Given the description of an element on the screen output the (x, y) to click on. 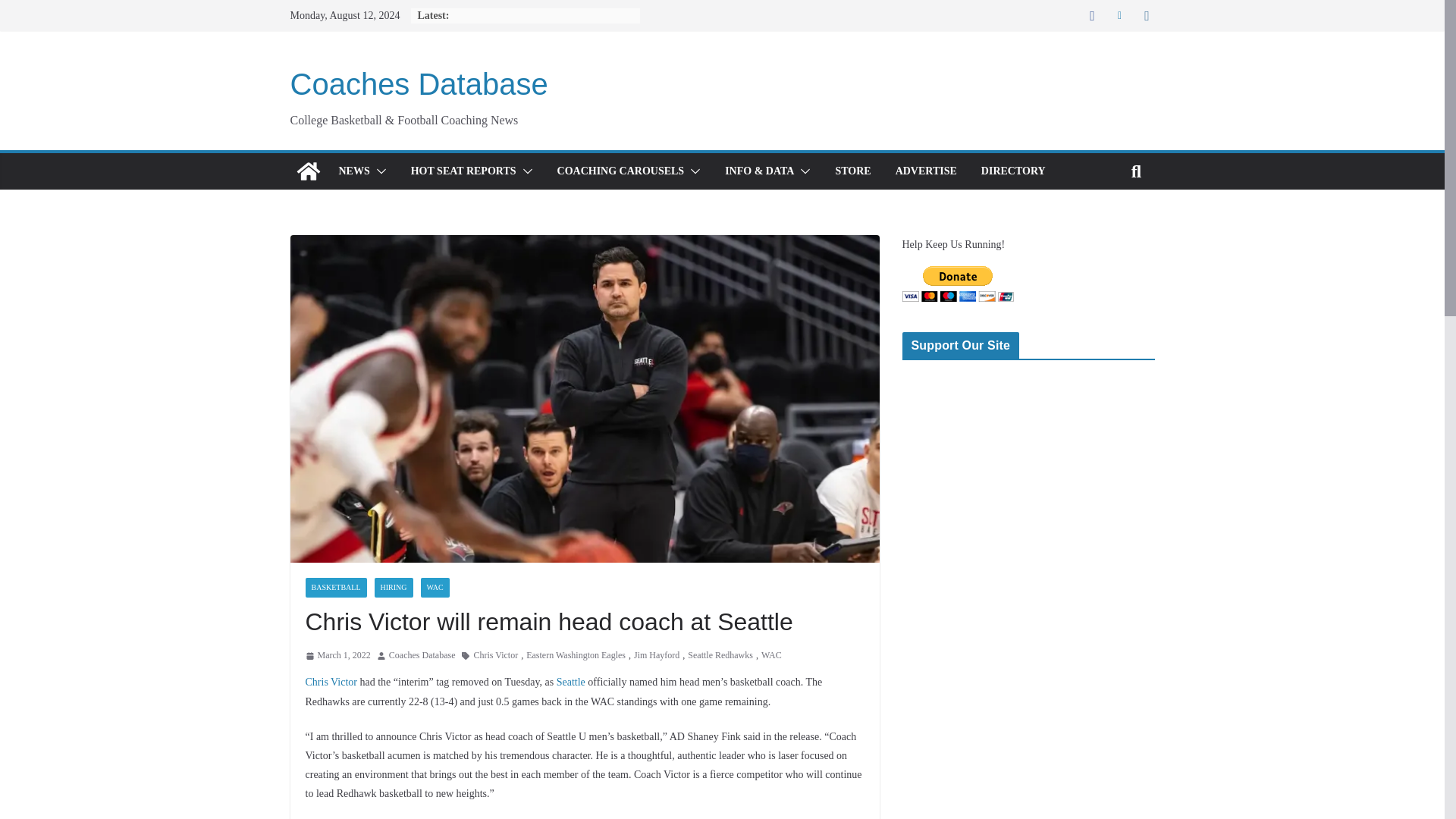
March 1, 2022 (336, 655)
DIRECTORY (1013, 170)
WAC (434, 587)
Coaches Database (307, 171)
Coaches Database (421, 655)
Coaches Database (418, 83)
COACHING CAROUSELS (620, 170)
BASKETBALL (335, 587)
ADVERTISE (925, 170)
Jim Hayford (656, 655)
